Given the description of an element on the screen output the (x, y) to click on. 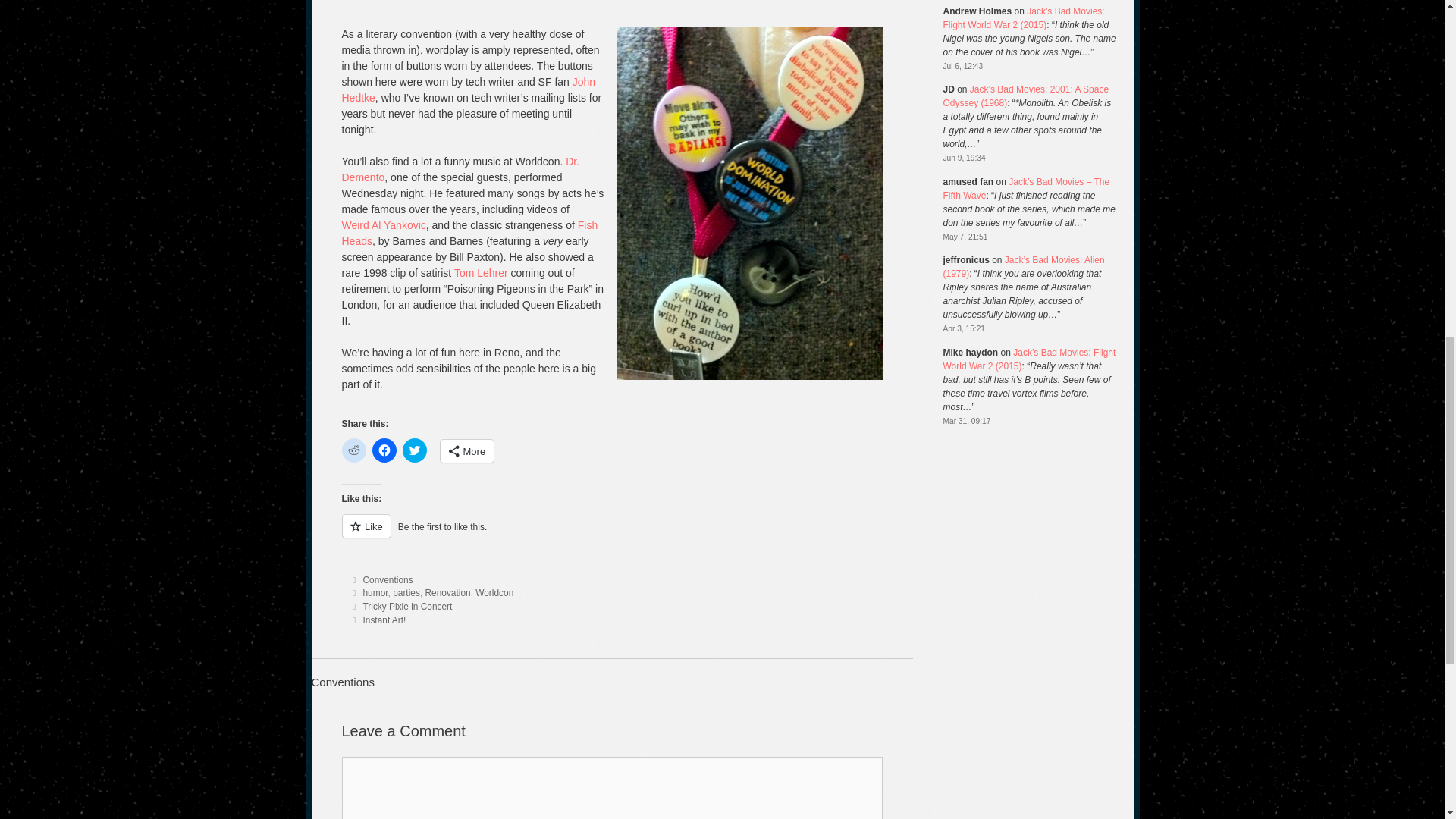
humor (374, 593)
More (466, 450)
John Hedtke (467, 90)
Conventions (387, 579)
Renovation (447, 593)
Fish Heads (468, 233)
parties (406, 593)
Dr. Demento (459, 169)
Tricky Pixie in Concert (406, 606)
Worldcon (494, 593)
Tom Lehrer (481, 272)
Instant Art! (384, 620)
Weird Al Yankovic (382, 224)
